Given the description of an element on the screen output the (x, y) to click on. 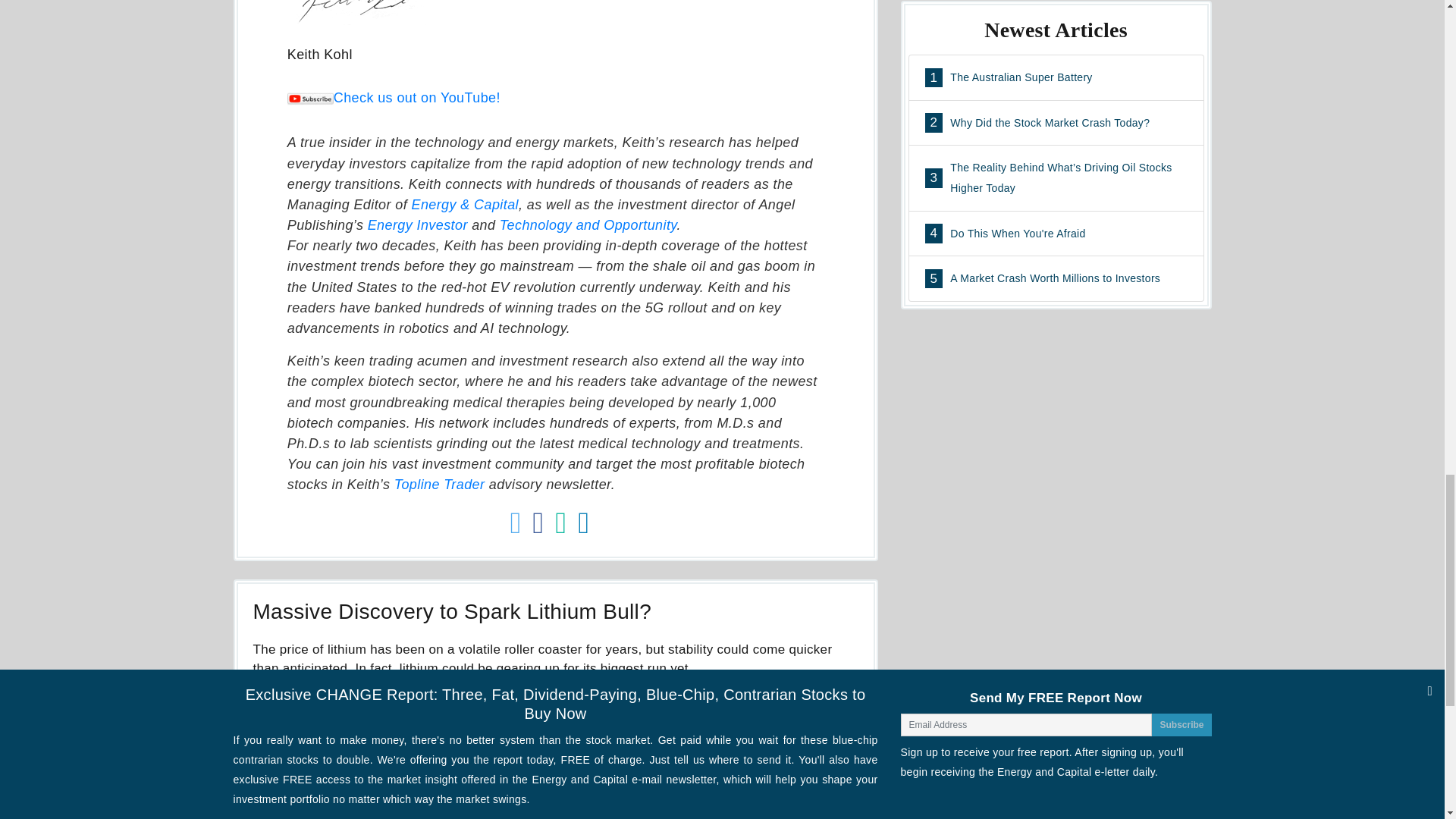
Topline Trader (439, 484)
View our Privacy Policy (373, 814)
Check us out on YouTube! (393, 97)
Energy Investor (417, 224)
Sign Up (824, 788)
Technology and Opportunity (588, 224)
